Given the description of an element on the screen output the (x, y) to click on. 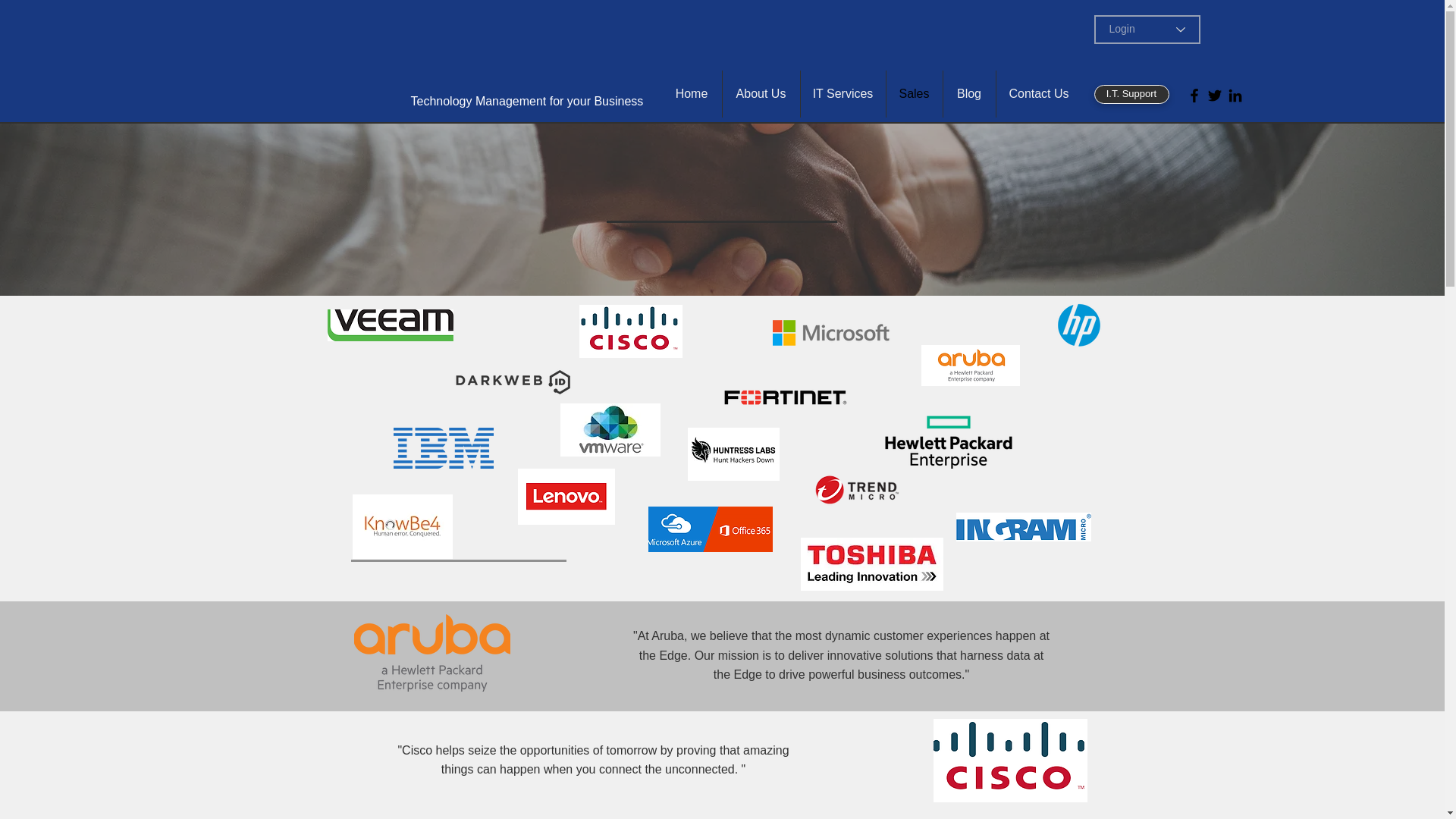
hpe.png (947, 441)
Home (690, 93)
Blog (969, 93)
I.T. Support (1131, 94)
Contact Us (1038, 93)
About Us (760, 93)
Sales (913, 93)
IT Services (842, 93)
